Given the description of an element on the screen output the (x, y) to click on. 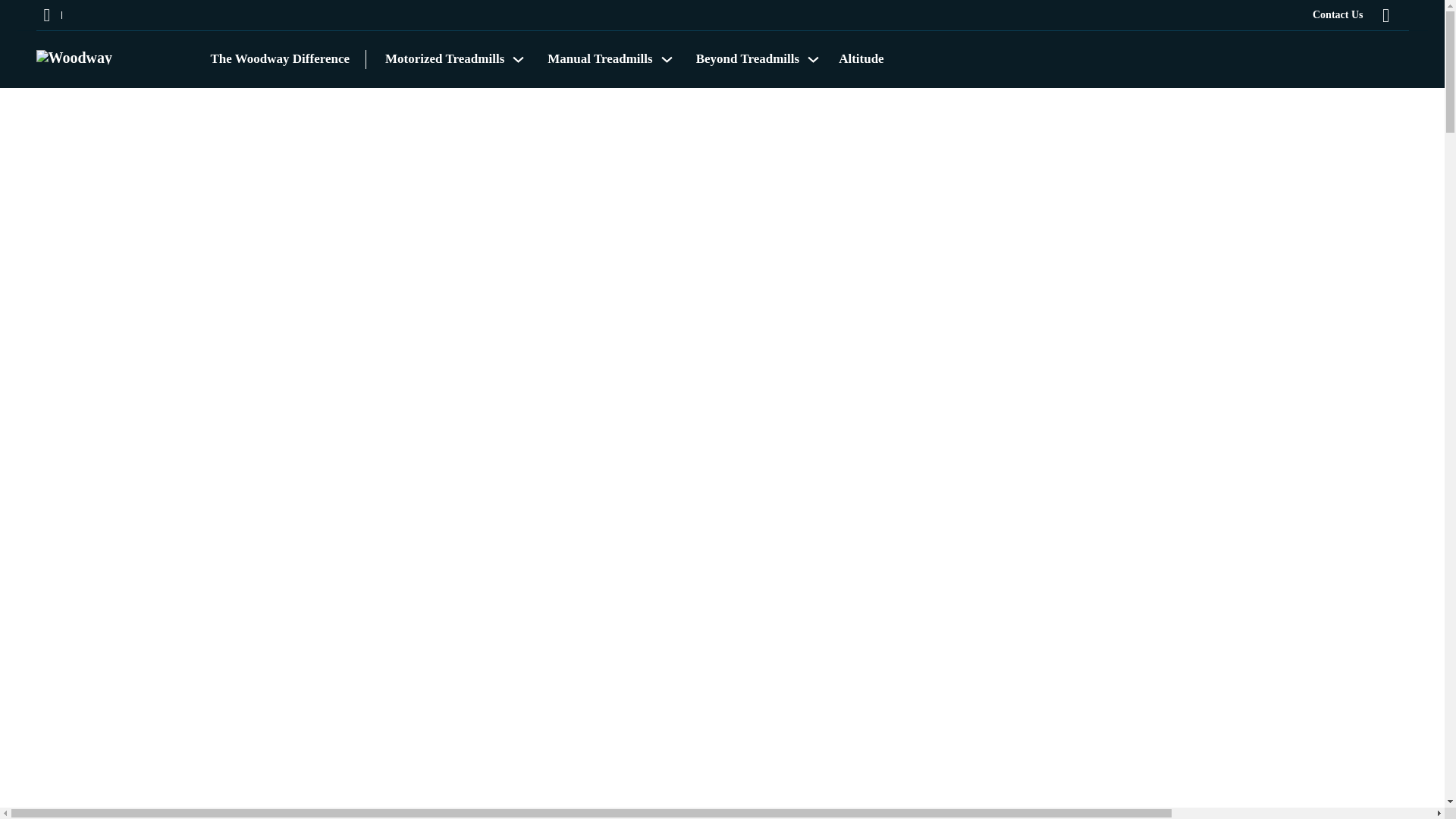
Contact Us (1337, 15)
The Woodway Difference (280, 58)
Manual Treadmills (599, 58)
Motorized Treadmills (444, 58)
